Given the description of an element on the screen output the (x, y) to click on. 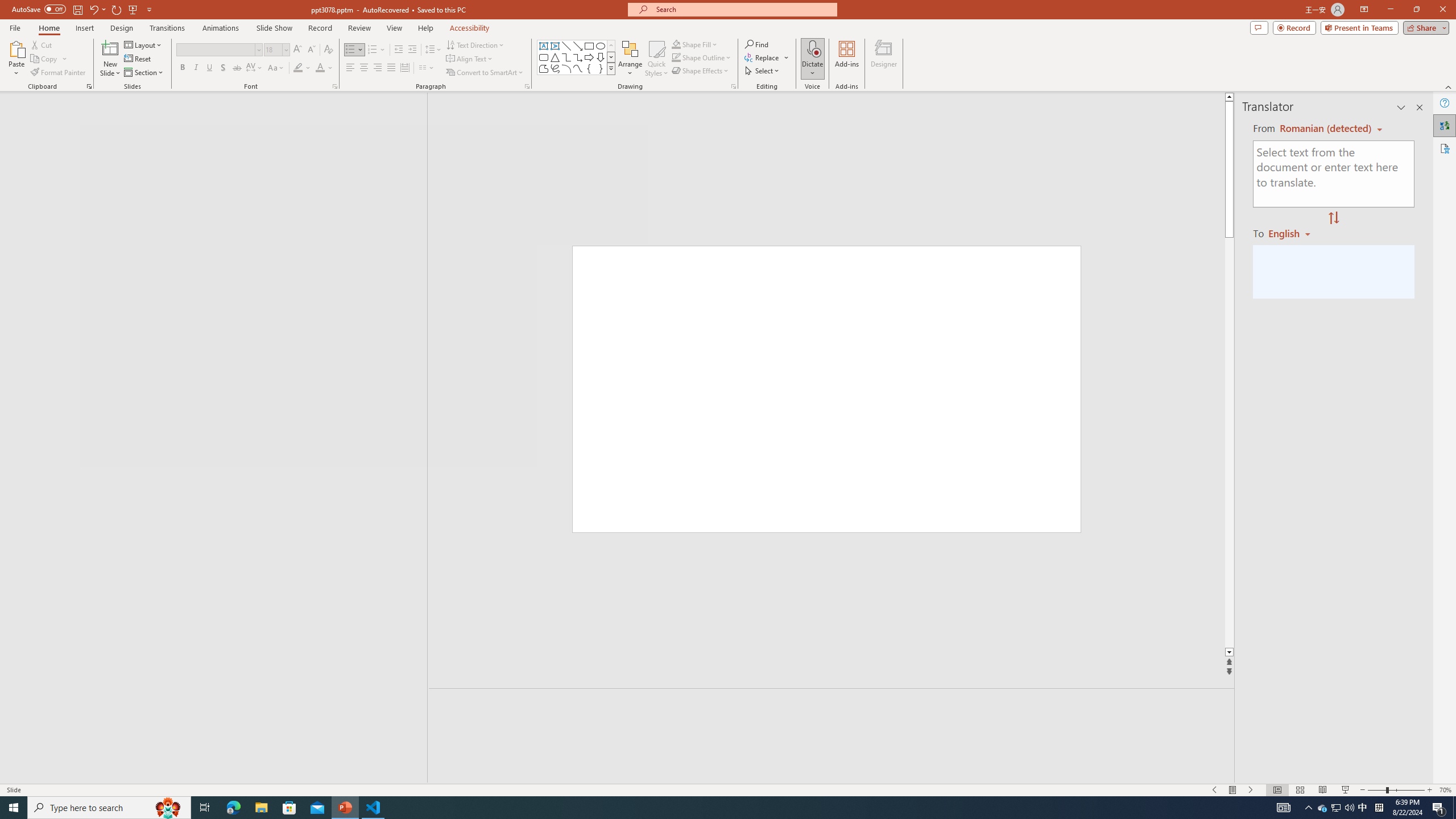
Connector: Elbow (566, 57)
Columns (426, 67)
Shape Fill (694, 44)
View (395, 28)
Font (215, 49)
Select (762, 69)
Replace... (767, 56)
Text Highlight Color (302, 67)
Text Box (543, 45)
Dictate (812, 48)
Line Arrow (577, 45)
Font Size (276, 49)
Bullets (349, 49)
Font Color (324, 67)
